Given the description of an element on the screen output the (x, y) to click on. 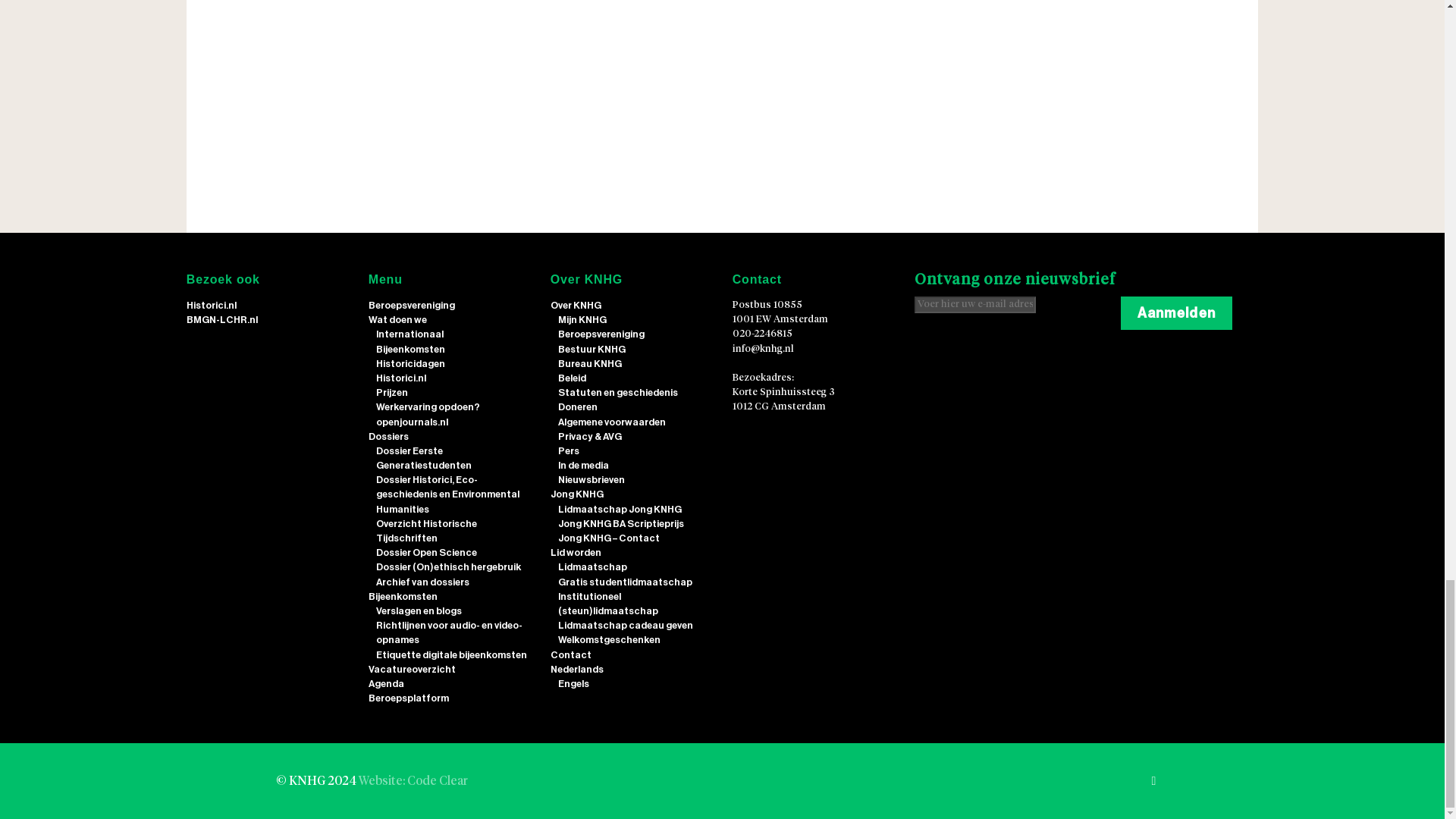
Aanmelden (1176, 313)
Nederlands (577, 668)
Engels (573, 683)
